Given the description of an element on the screen output the (x, y) to click on. 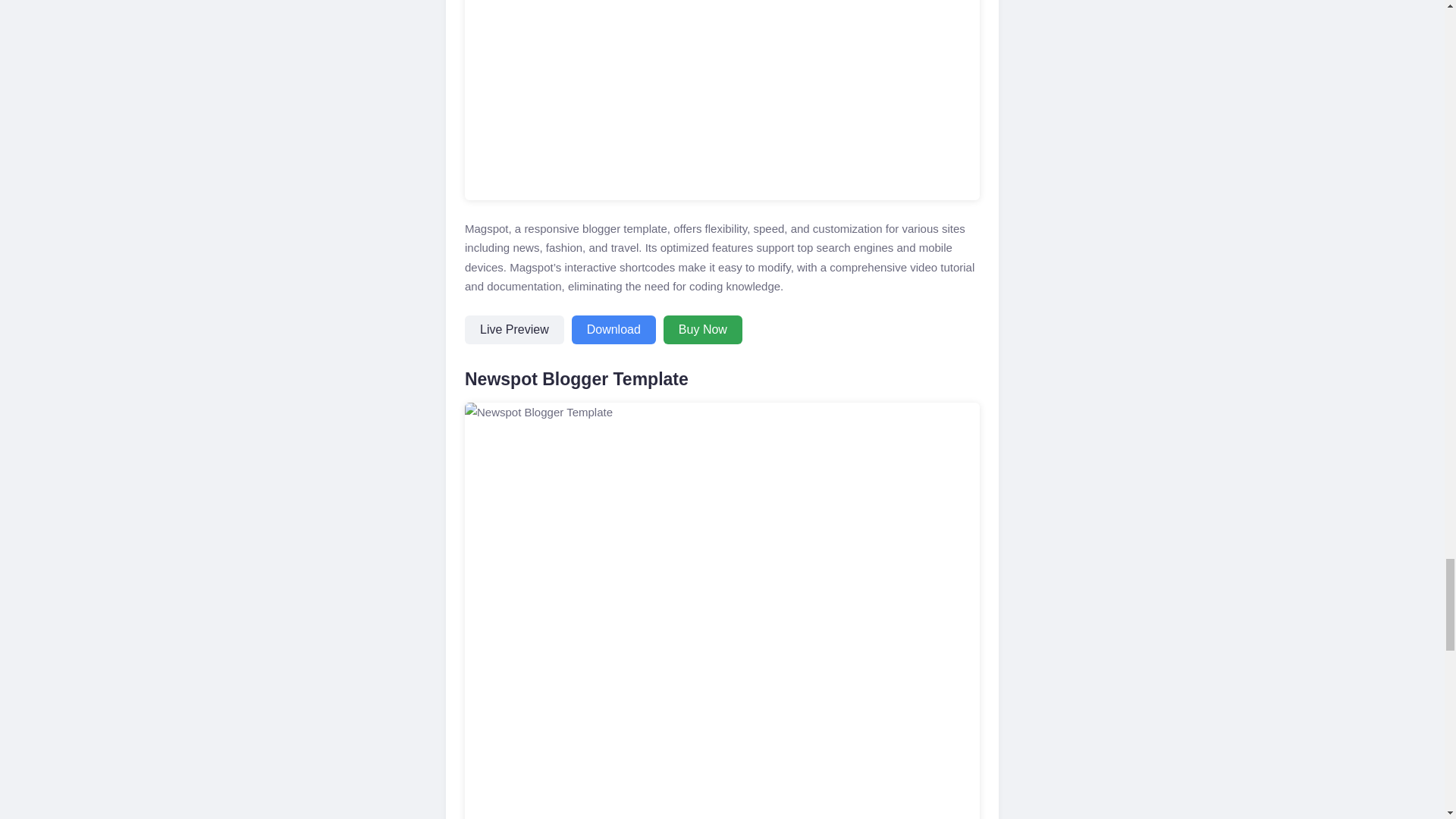
Magspot Blogger Template (721, 99)
